Given the description of an element on the screen output the (x, y) to click on. 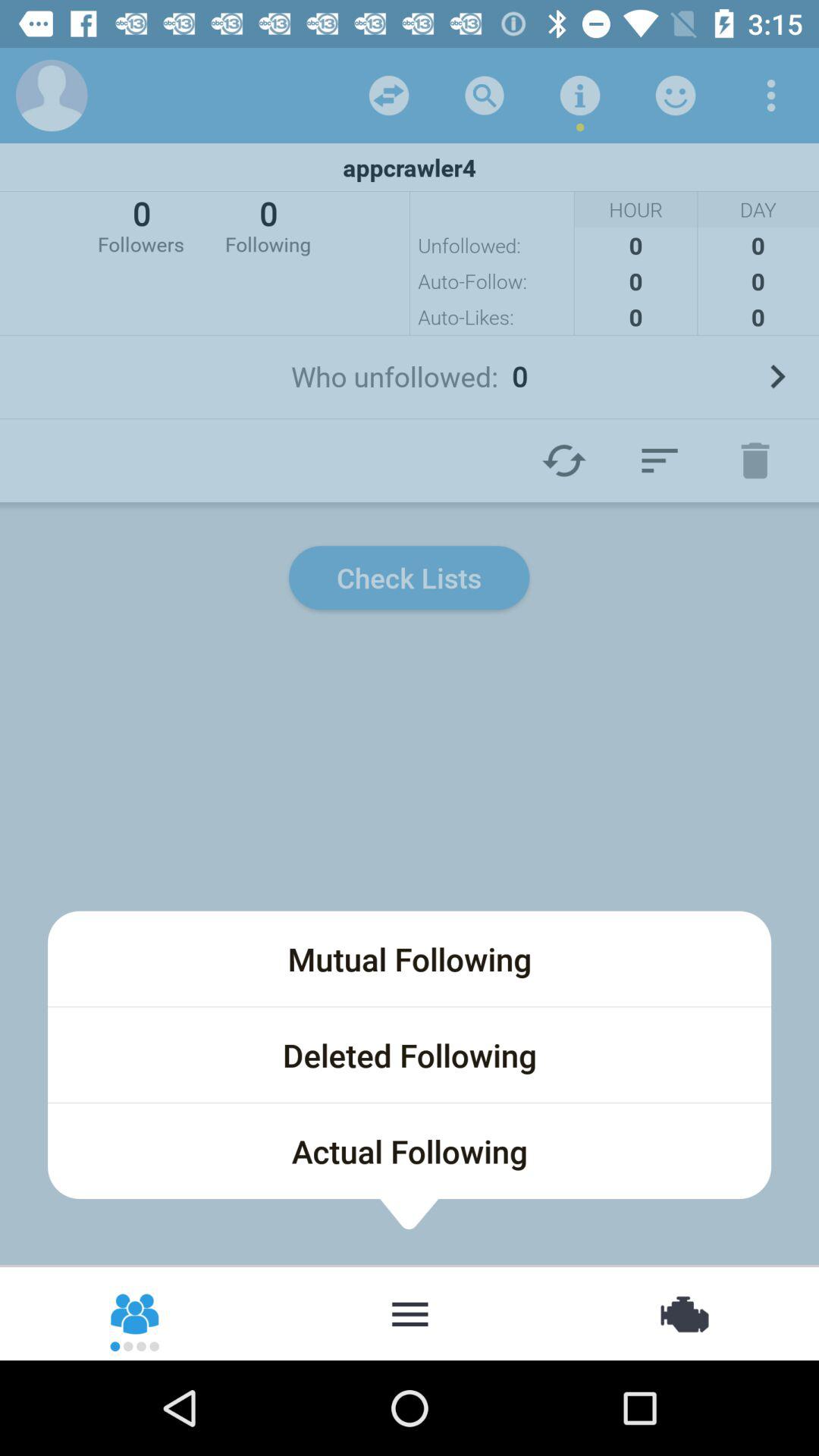
click item below who unfollowed:  0 (755, 460)
